Given the description of an element on the screen output the (x, y) to click on. 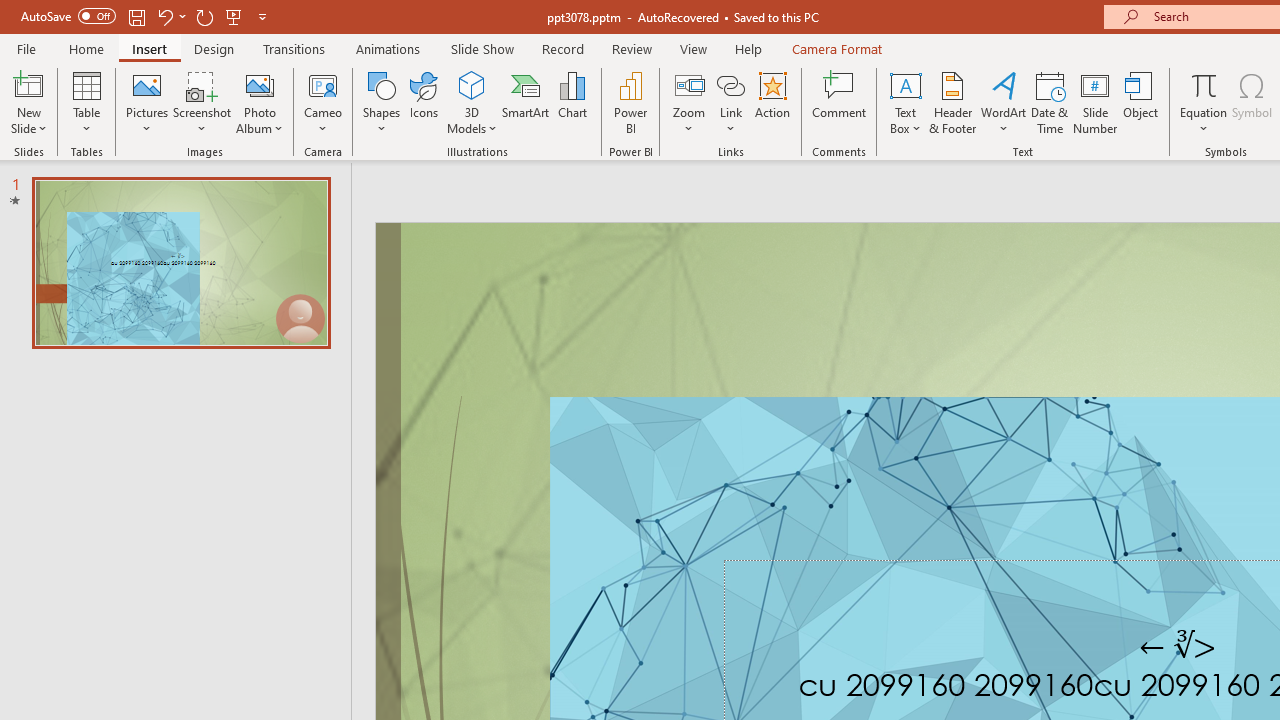
Power BI (630, 102)
Camera Format (836, 48)
New Photo Album... (259, 84)
Header & Footer... (952, 102)
